Given the description of an element on the screen output the (x, y) to click on. 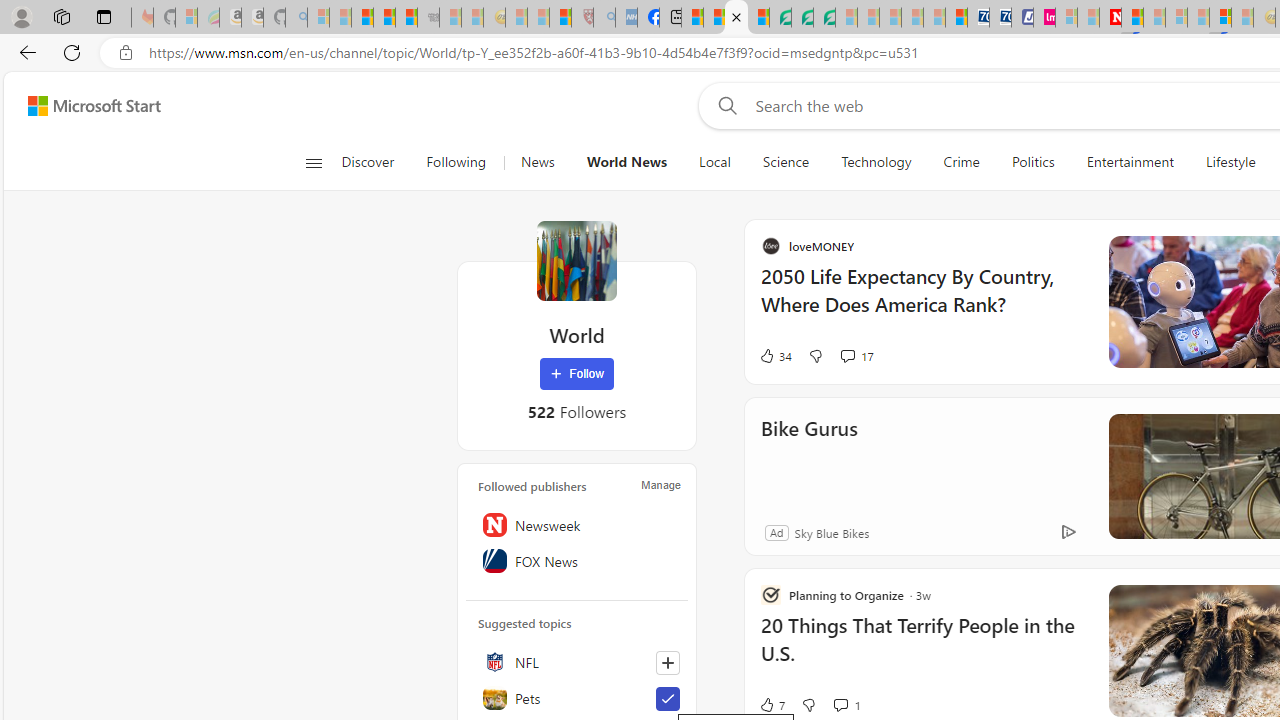
20 Things That Terrify People in the U.S. (1115, 650)
View comments 17 Comment (1049, 355)
Sky Blue Bikes (1024, 532)
34 Like (968, 355)
Pets (577, 697)
Unfollow this topic (667, 698)
